Given the description of an element on the screen output the (x, y) to click on. 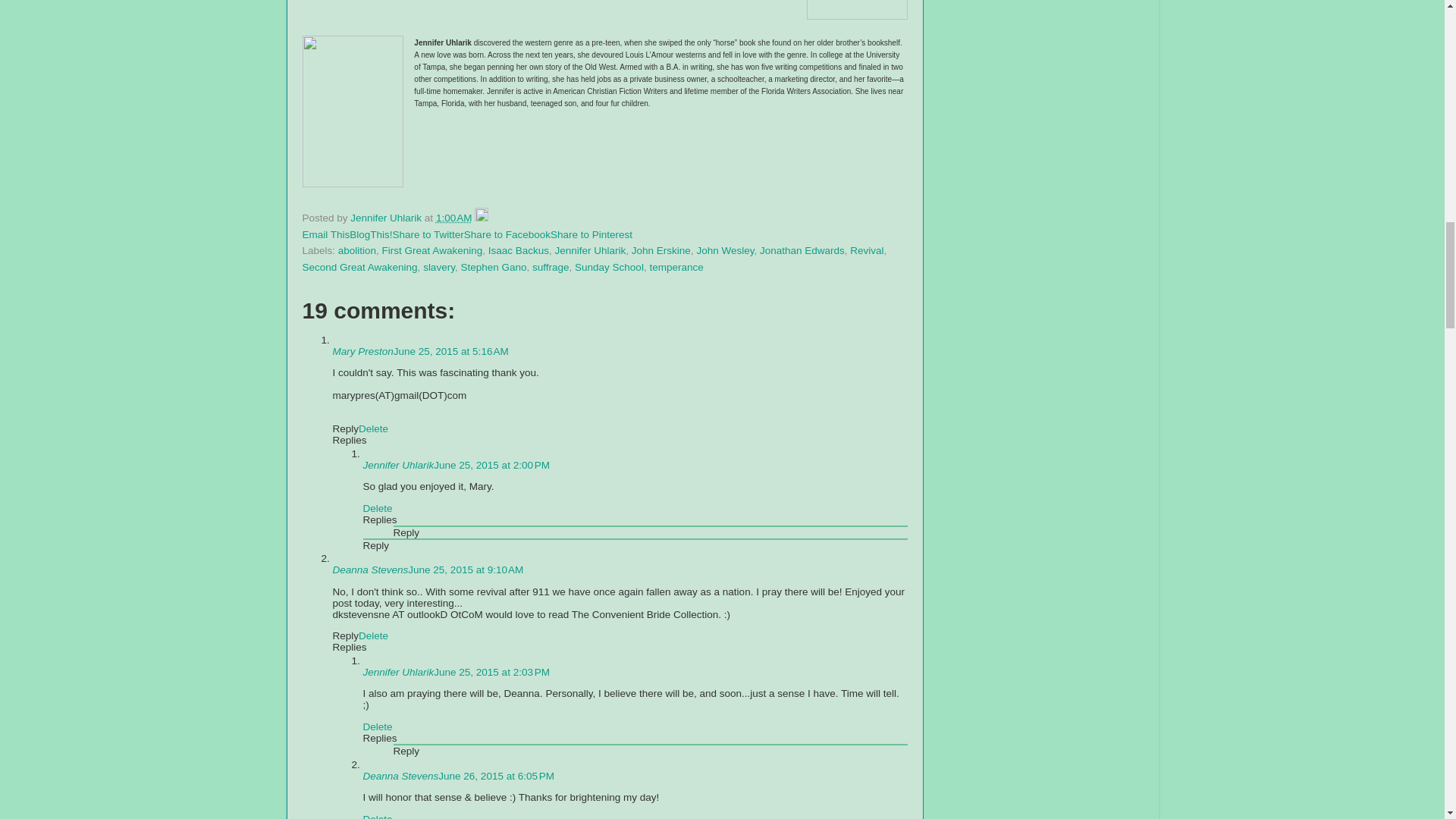
author profile (387, 217)
Revival (866, 250)
First Great Awakening (432, 250)
John Wesley (724, 250)
Sunday School (609, 266)
Jonathan Edwards (802, 250)
suffrage (550, 266)
Share to Twitter (428, 234)
Jennifer Uhlarik (387, 217)
BlogThis! (370, 234)
abolition (356, 250)
John Erskine (660, 250)
Email This (325, 234)
BlogThis! (370, 234)
